Given the description of an element on the screen output the (x, y) to click on. 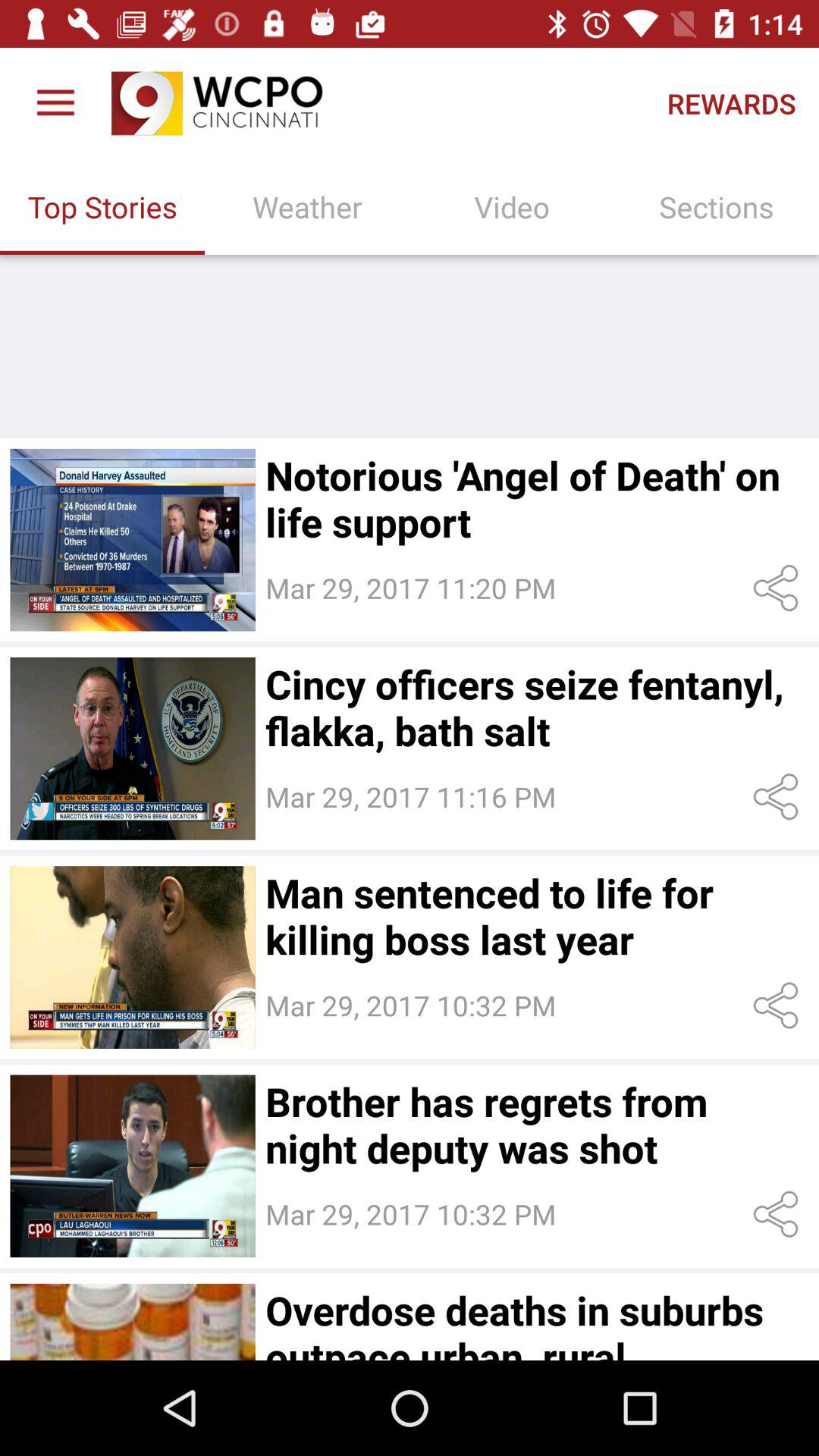
watch video (132, 748)
